Given the description of an element on the screen output the (x, y) to click on. 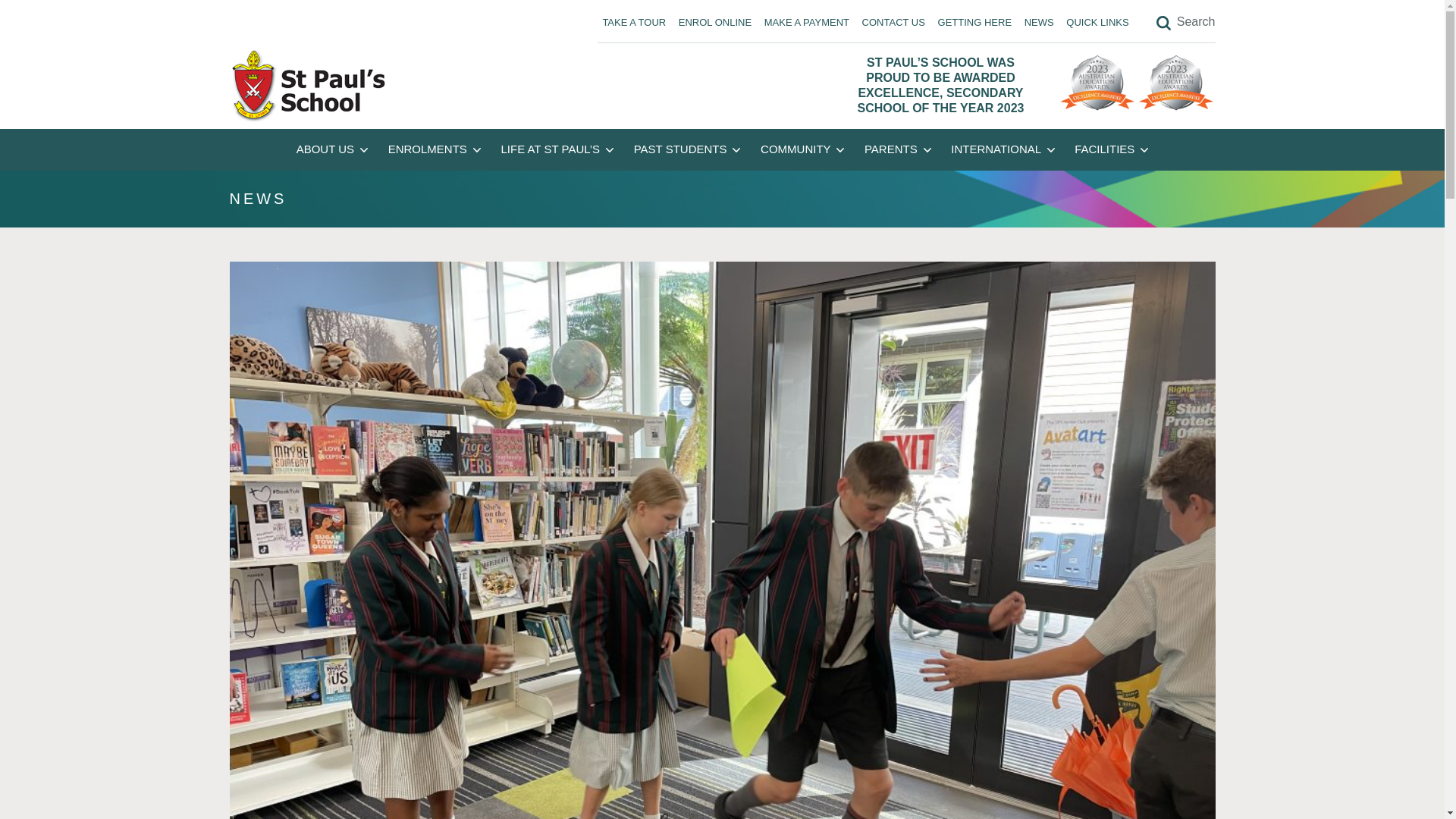
GETTING HERE (974, 21)
MAKE A PAYMENT (805, 21)
Search (1185, 22)
CONTACT US (893, 21)
TAKE A TOUR (633, 21)
NEWS (1038, 21)
QUICK LINKS (1097, 21)
ENROL ONLINE (713, 21)
